Given the description of an element on the screen output the (x, y) to click on. 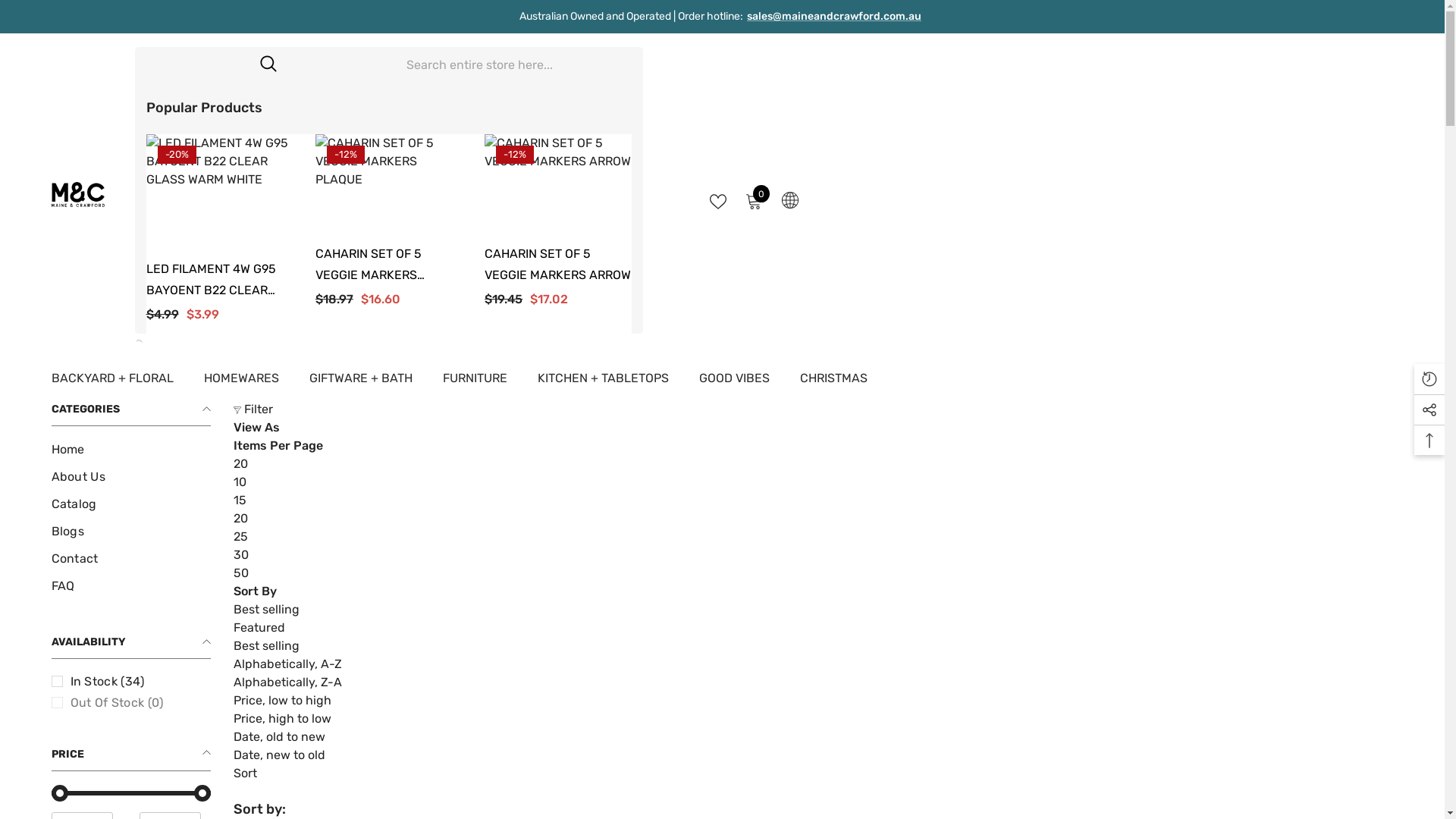
FURNITURE Element type: text (474, 384)
LED FILAMENT 4W G95 BAYOENT B22 CLEAR GLASS WARM WHITE Element type: text (218, 279)
BACKYARD + FLORAL Element type: text (112, 384)
Home Element type: text (67, 449)
GIFTWARE + BATH Element type: text (360, 384)
Blogs Element type: text (67, 531)
CAHARIN SET OF 5 VEGGIE MARKERS ARROW Element type: text (557, 264)
LED FILAMENT 4W G95 BAYOENT B22 CLEAR GLASS WARM WHITE Element type: hover (218, 190)
FAQ Element type: text (63, 585)
CAHARIN SET OF 5 VEGGIE MARKERS ARROW Element type: hover (557, 183)
GOOD VIBES Element type: text (734, 384)
Contact Element type: text (74, 558)
CAHARIN SET OF 5 VEGGIE MARKERS PLAQUE Element type: hover (388, 183)
Catalog Element type: text (74, 503)
sales@maineandcrawford.com.au Element type: text (833, 16)
0
0 items Element type: text (752, 199)
CHRISTMAS Element type: text (832, 384)
KITCHEN + TABLETOPS Element type: text (602, 384)
CAHARIN SET OF 5 VEGGIE MARKERS PLAQUE Element type: text (388, 264)
About Us Element type: text (78, 476)
HOMEWARES Element type: text (240, 384)
